Given the description of an element on the screen output the (x, y) to click on. 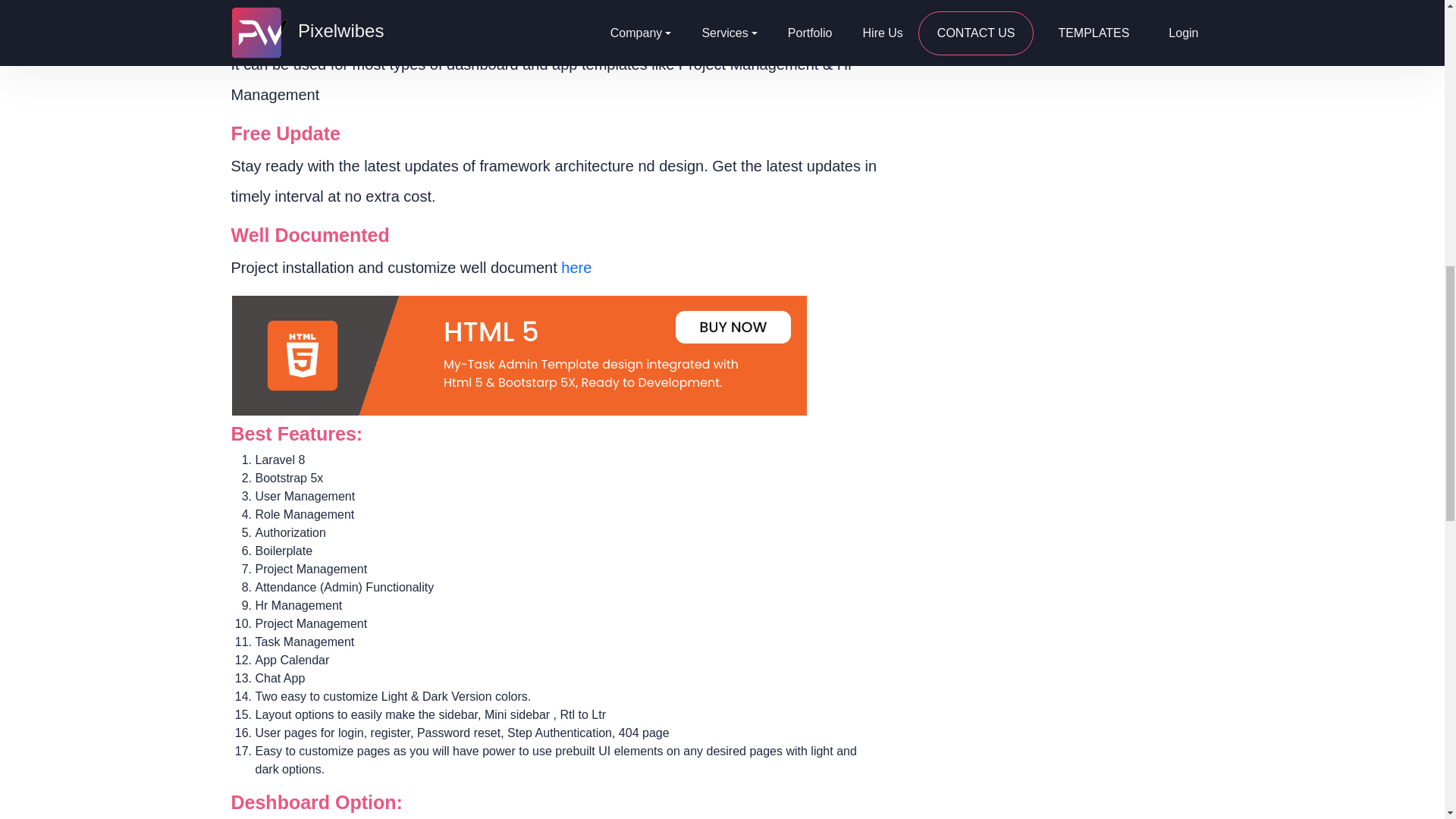
here (575, 267)
